Given the description of an element on the screen output the (x, y) to click on. 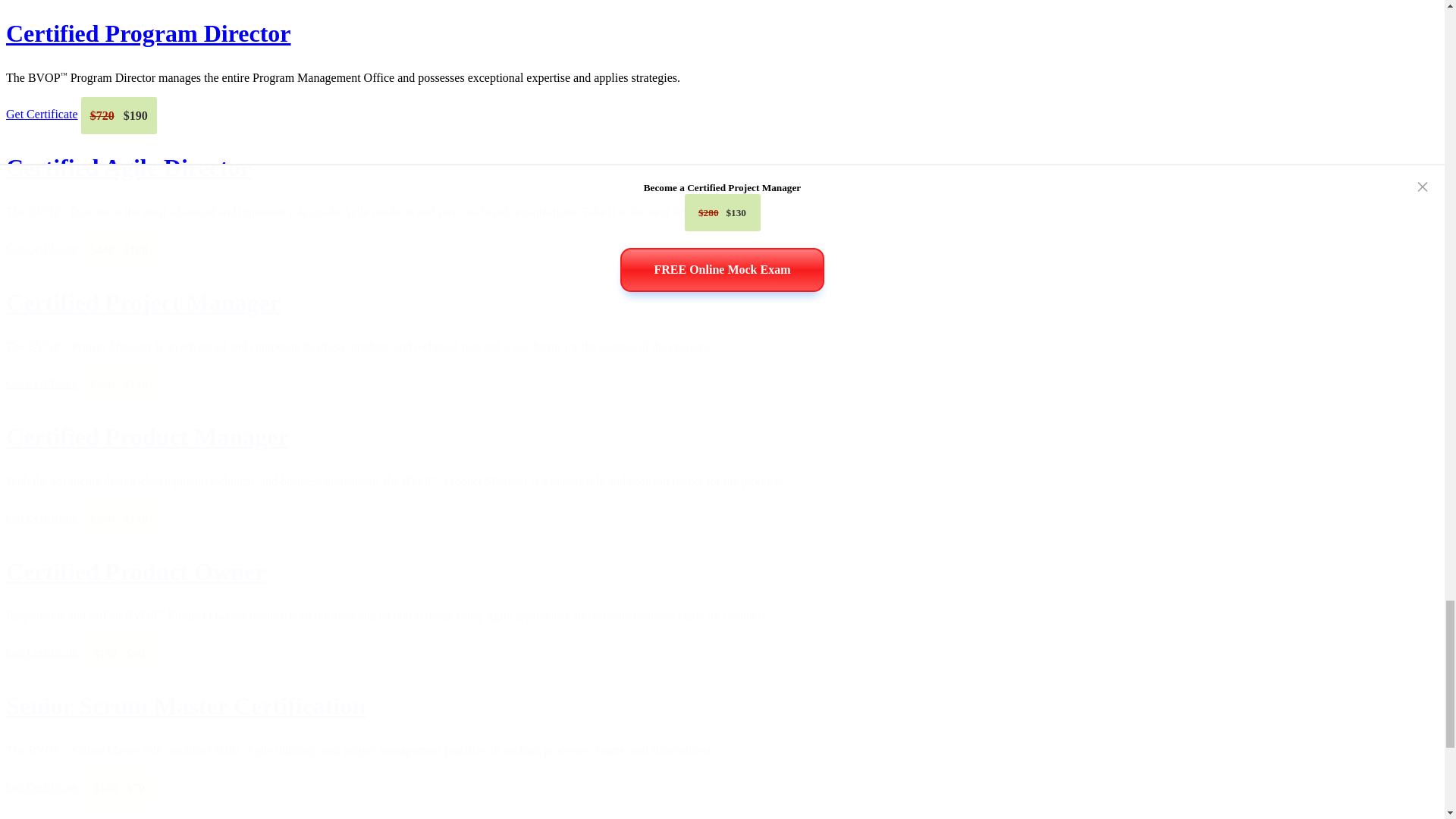
Agile Director Certification (127, 166)
Project Manager Certification (143, 302)
Program Director Certification (148, 32)
Senior Scrum Master certificate (185, 705)
Certified Product Owner (134, 571)
Certified Product Manager (146, 436)
